Given the description of an element on the screen output the (x, y) to click on. 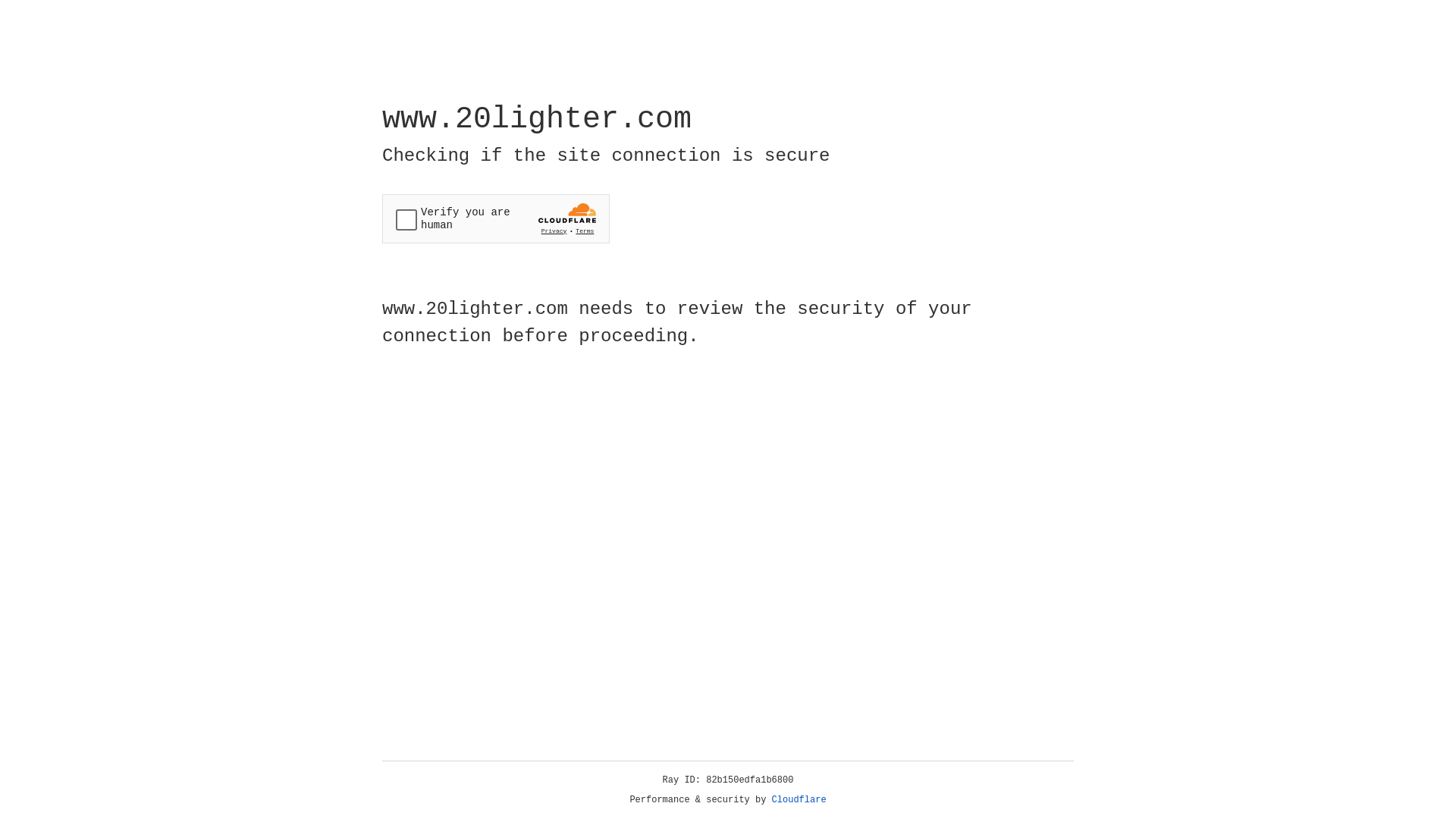
Cloudflare Element type: text (798, 799)
Widget containing a Cloudflare security challenge Element type: hover (495, 218)
